Given the description of an element on the screen output the (x, y) to click on. 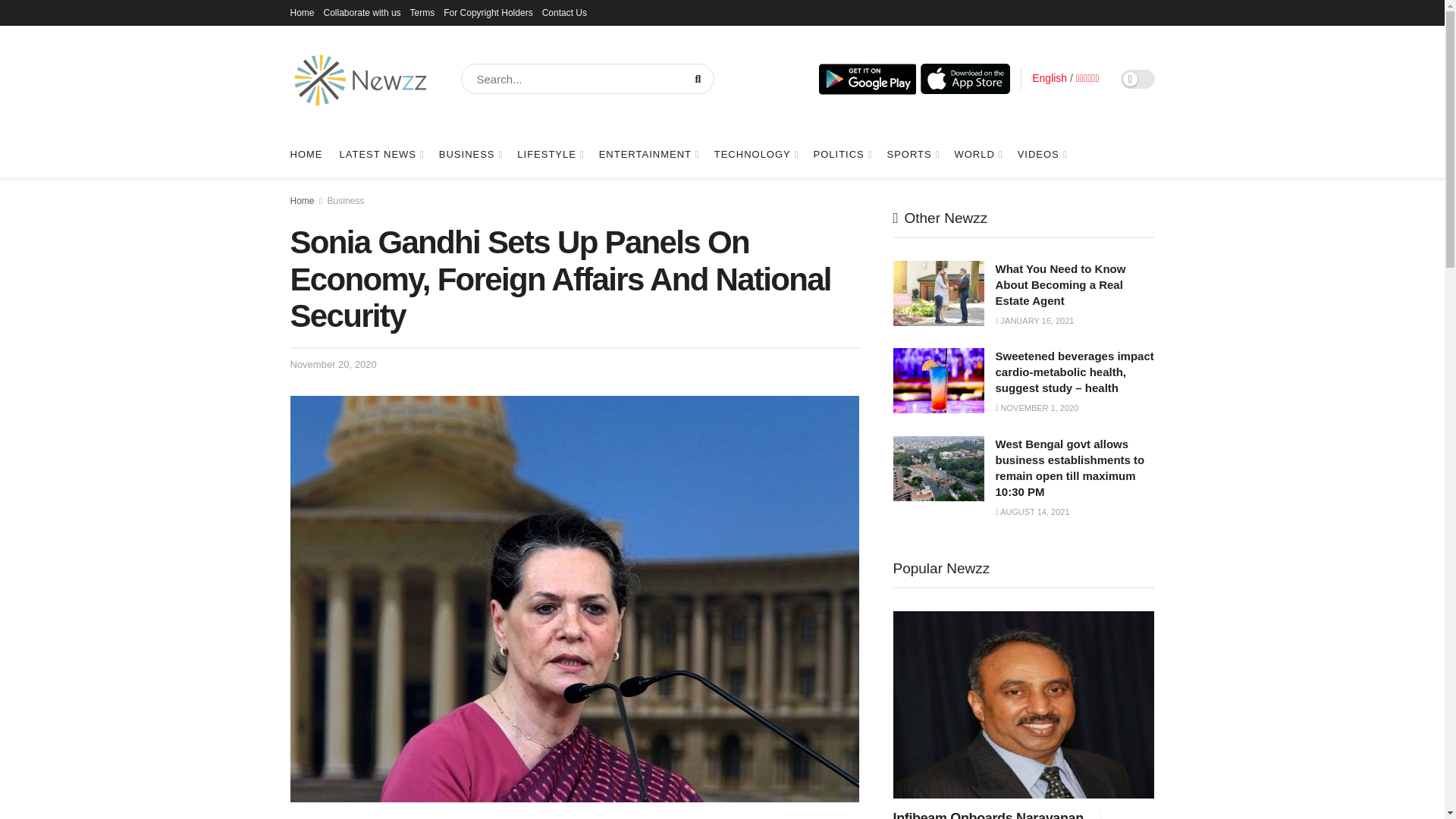
ENTERTAINMENT (647, 154)
VIDEOS (1041, 154)
Home (301, 12)
Contact Us (563, 12)
English (1049, 78)
Collaborate with us (362, 12)
For Copyright Holders (488, 12)
SPORTS (911, 154)
LATEST NEWS (380, 154)
WORLD (976, 154)
POLITICS (841, 154)
Terms (422, 12)
TECHNOLOGY (755, 154)
LIFESTYLE (548, 154)
BUSINESS (469, 154)
